Given the description of an element on the screen output the (x, y) to click on. 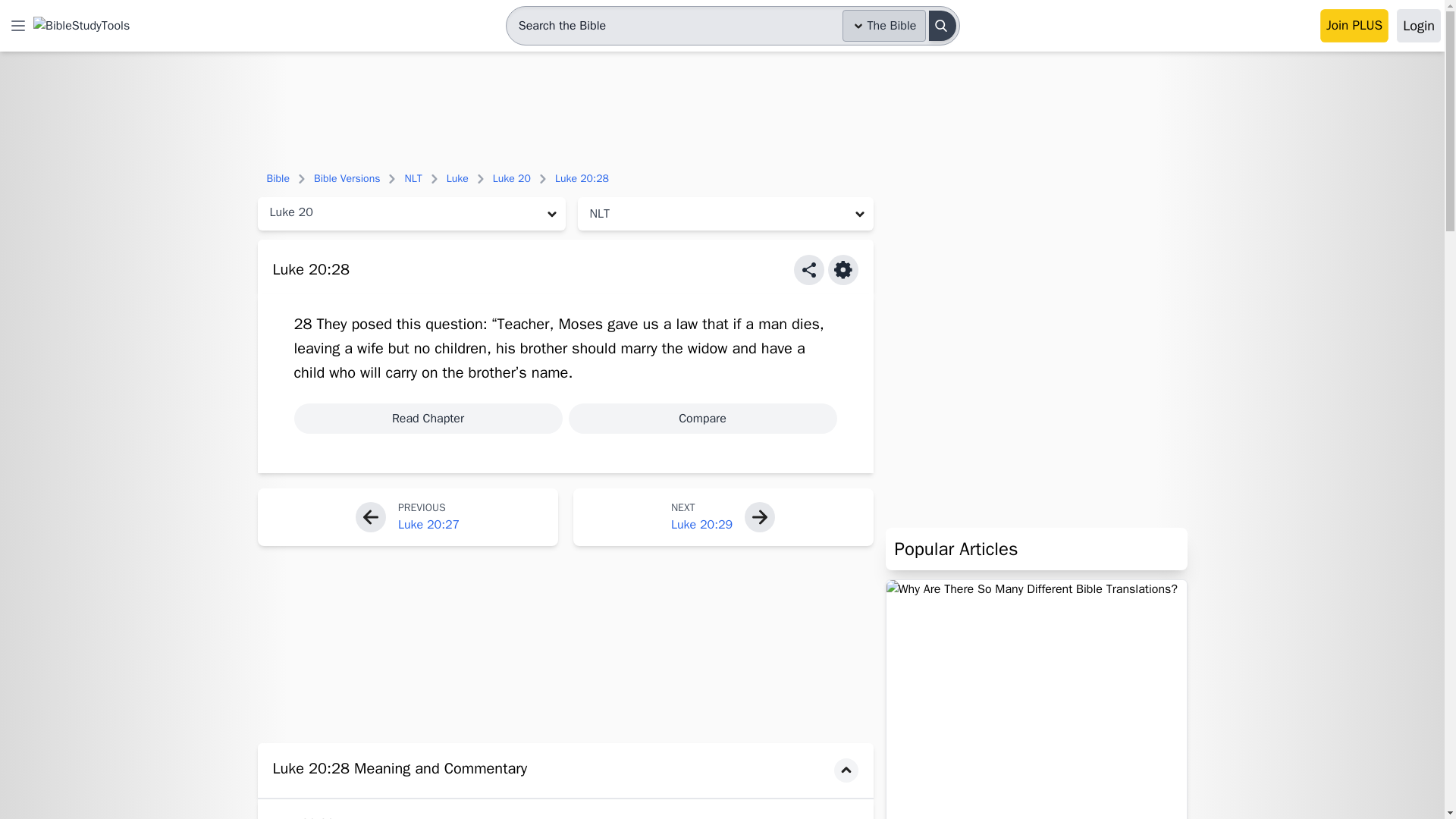
The Bible (884, 25)
Scripture Settings (843, 269)
Login (1418, 25)
Join PLUS (1354, 25)
